Given the description of an element on the screen output the (x, y) to click on. 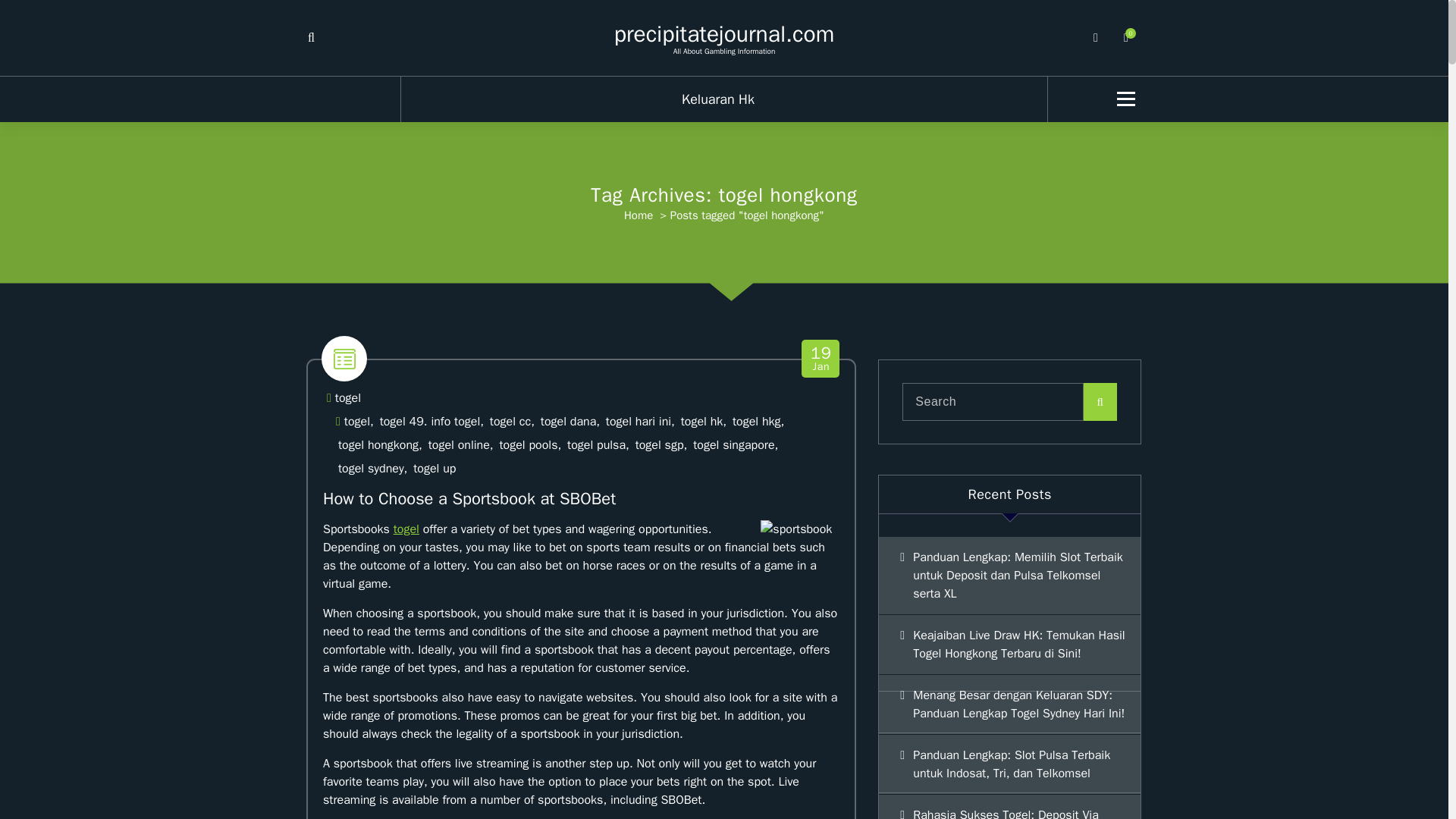
togel sydney (370, 468)
togel pools (528, 445)
togel online (458, 445)
togel hongkong (378, 445)
togel hkg (756, 421)
Keluaran Hk (724, 99)
togel (820, 358)
Home (347, 398)
0 (638, 214)
